Given the description of an element on the screen output the (x, y) to click on. 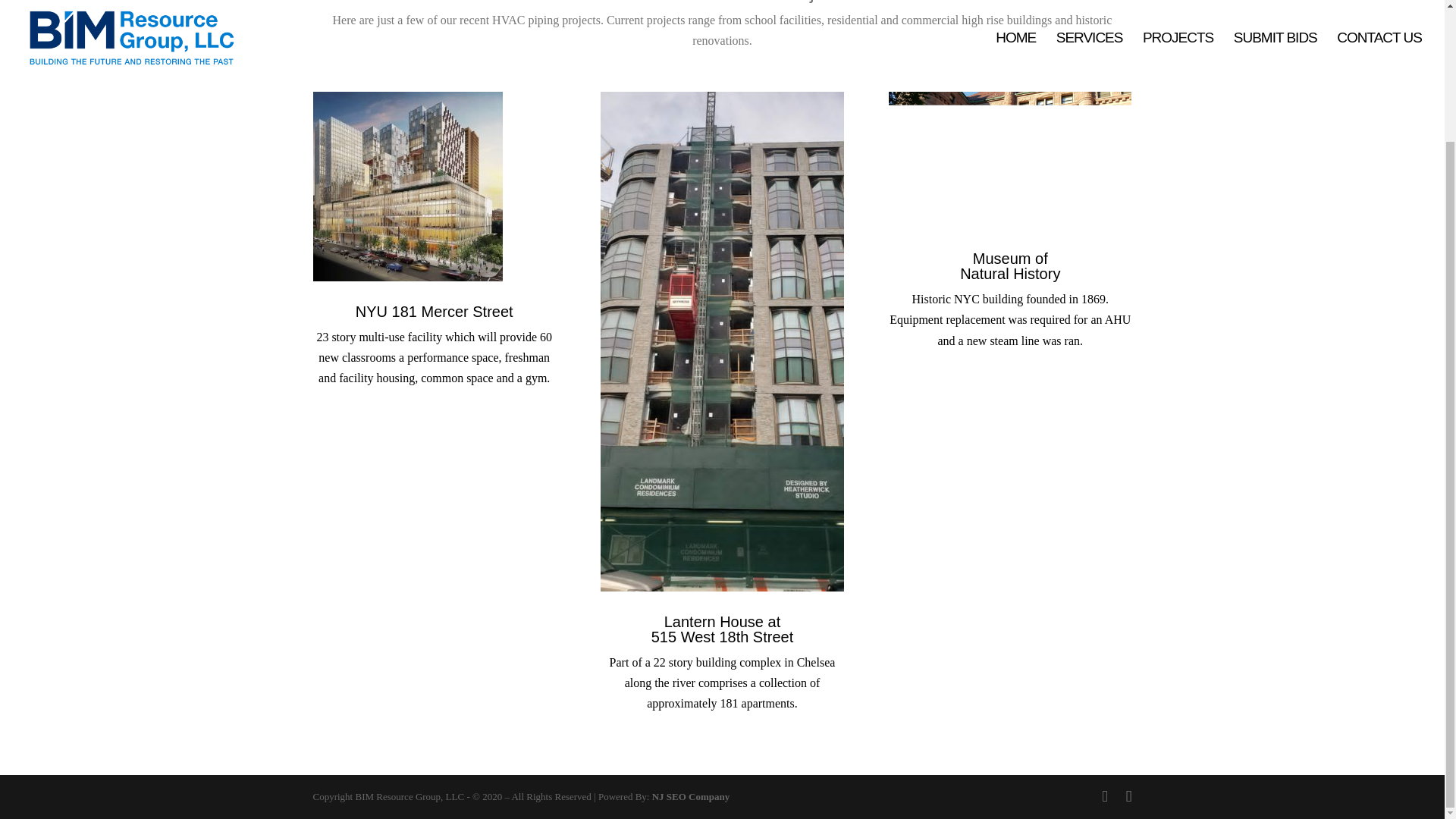
3 (1009, 159)
NJ SEO Company (691, 796)
